Given the description of an element on the screen output the (x, y) to click on. 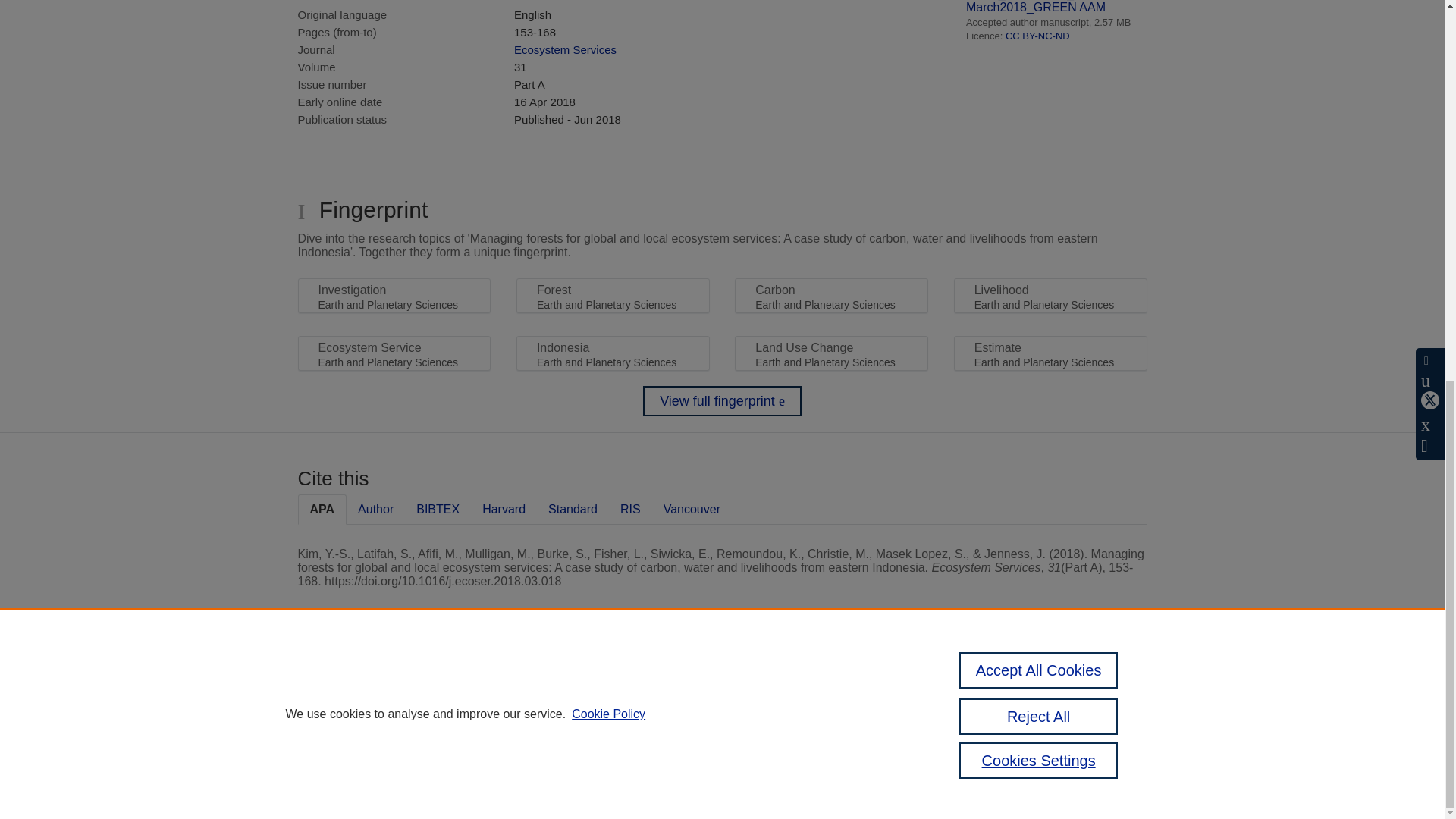
View full fingerprint (722, 400)
Ecosystem Services (564, 49)
CC BY-NC-ND (1038, 35)
